Given the description of an element on the screen output the (x, y) to click on. 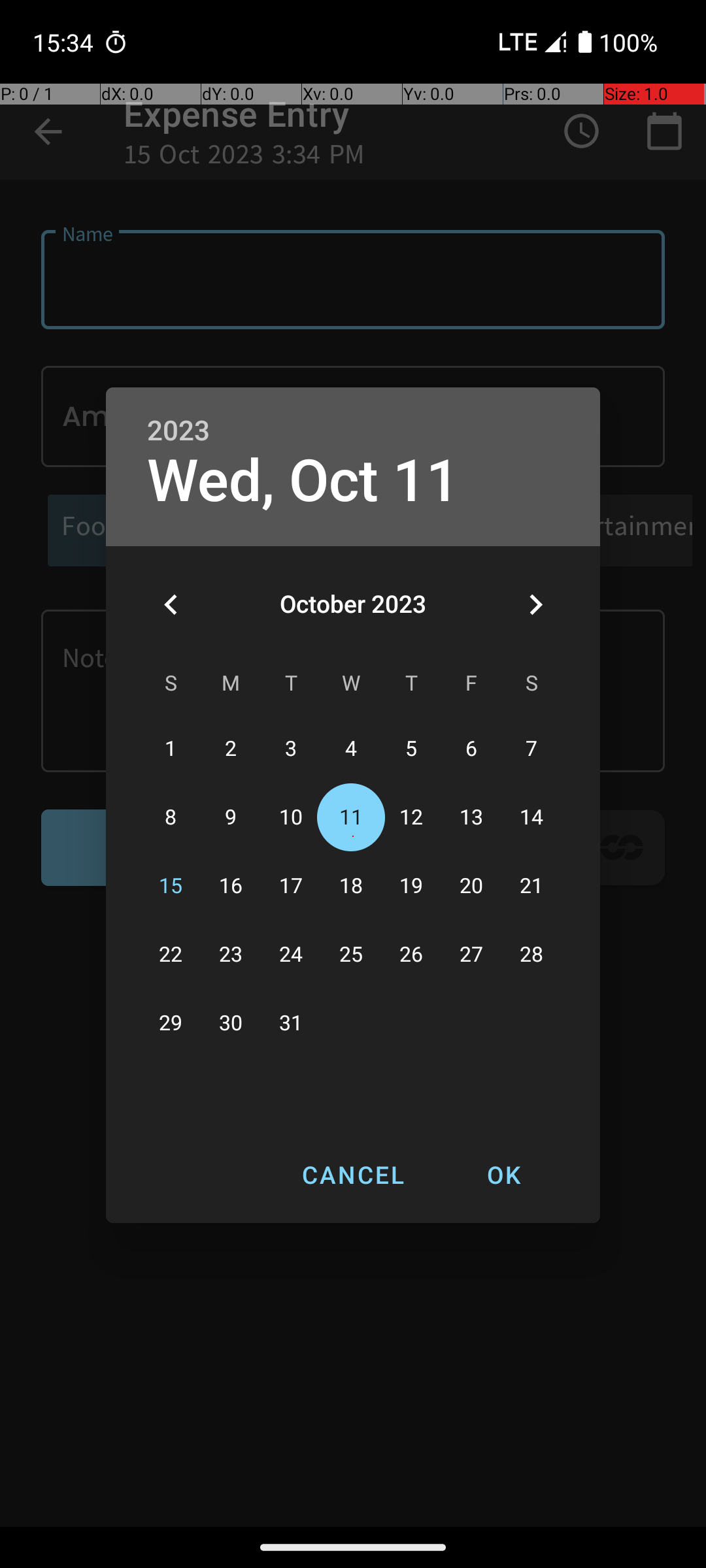
Wed, Oct 11 Element type: android.widget.TextView (303, 480)
